Given the description of an element on the screen output the (x, y) to click on. 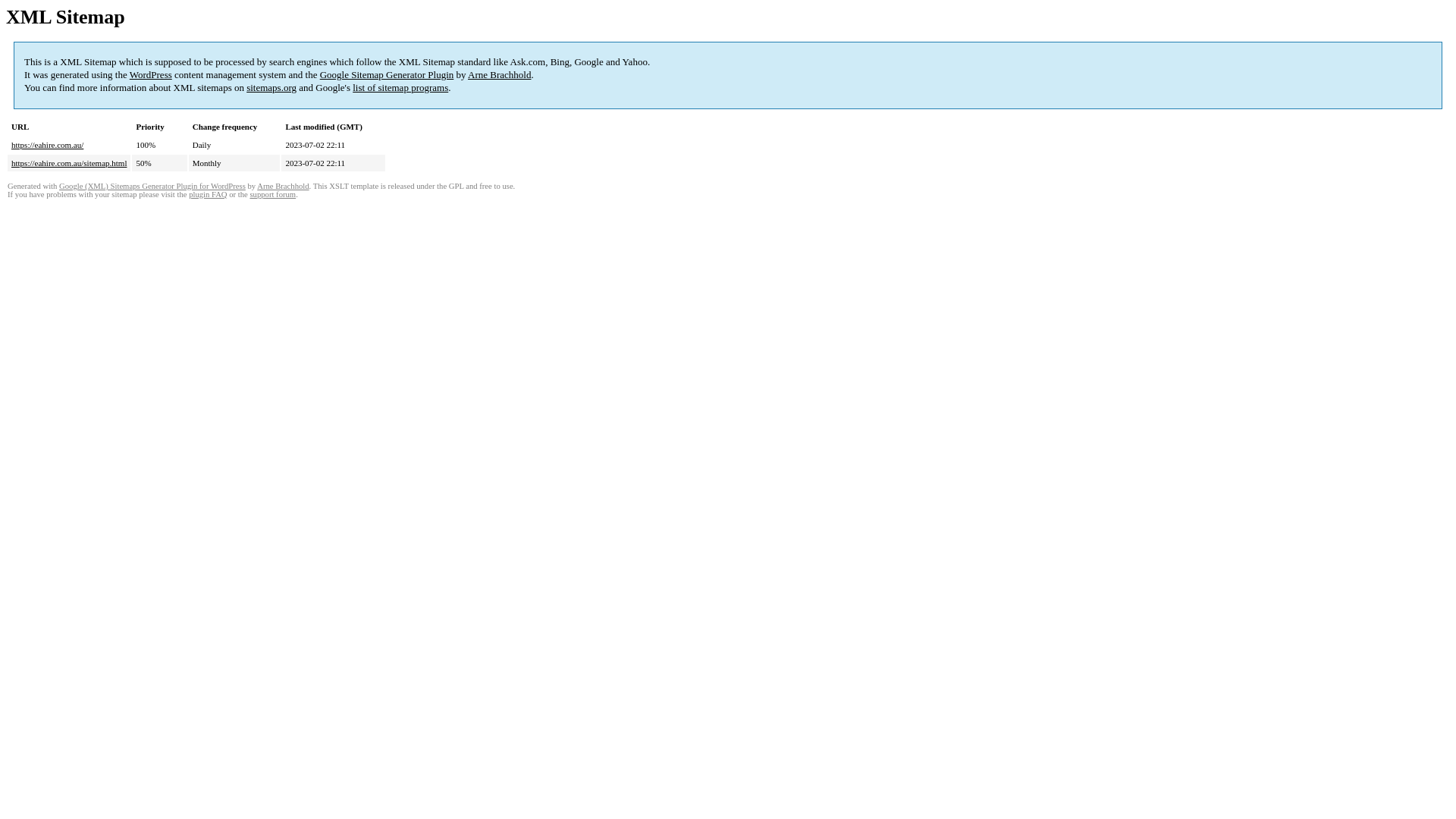
Google Sitemap Generator Plugin Element type: text (387, 74)
list of sitemap programs Element type: text (400, 87)
Google (XML) Sitemaps Generator Plugin for WordPress Element type: text (152, 186)
sitemaps.org Element type: text (271, 87)
plugin FAQ Element type: text (207, 194)
support forum Element type: text (272, 194)
Arne Brachhold Element type: text (282, 186)
https://eahire.com.au/ Element type: text (47, 144)
https://eahire.com.au/sitemap.html Element type: text (68, 162)
Arne Brachhold Element type: text (498, 74)
WordPress Element type: text (150, 74)
